Given the description of an element on the screen output the (x, y) to click on. 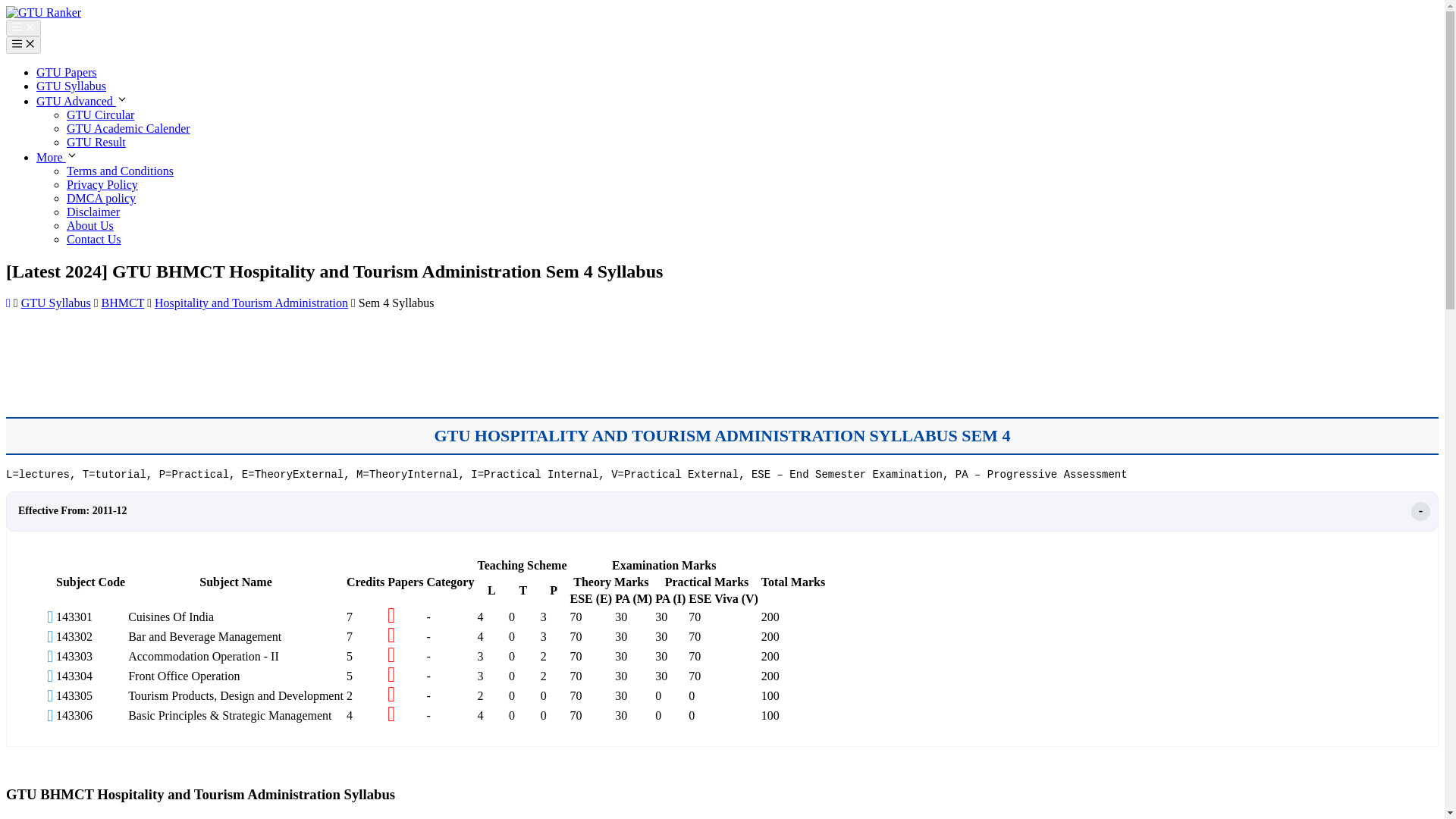
GTU Syllabus (71, 85)
GTU Result (95, 141)
Terms and Conditions (119, 170)
Privacy Policy (102, 184)
GTU Circular (99, 114)
GTU Advanced (82, 101)
Contact Us (93, 238)
GTU Academic Calender (128, 128)
GTU Papers (66, 72)
Disclaimer (92, 211)
BHMCT (122, 302)
Menu (22, 44)
DMCA policy (100, 197)
About Us (89, 225)
More (57, 156)
